Given the description of an element on the screen output the (x, y) to click on. 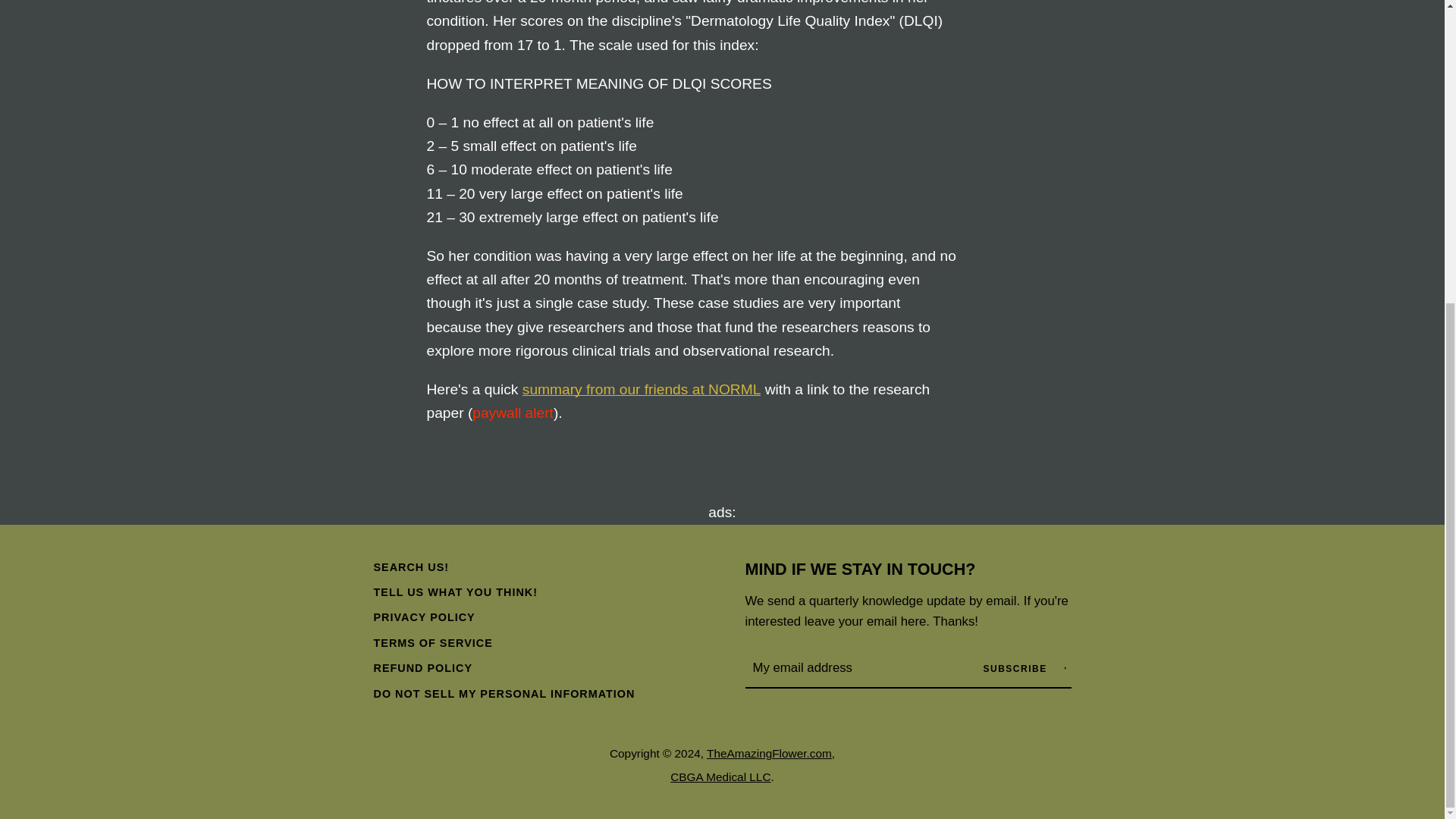
TELL US WHAT YOU THINK! (454, 592)
PRIVACY POLICY (423, 616)
SEARCH US! (410, 567)
summary from our friends at NORML (641, 389)
Cannabis Improves Pruritus Symptoms (641, 389)
